Given the description of an element on the screen output the (x, y) to click on. 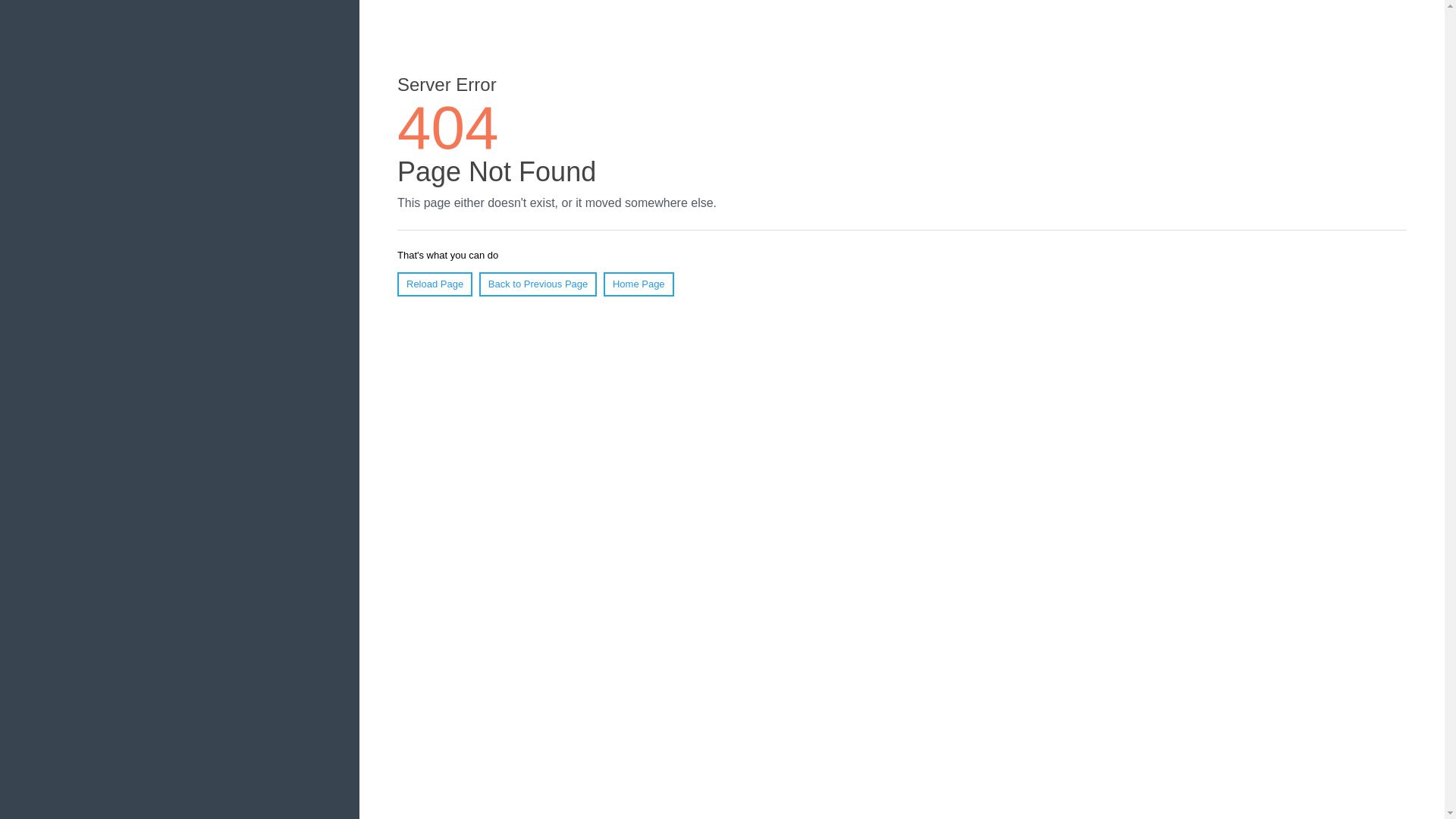
Reload Page Element type: text (434, 284)
Back to Previous Page Element type: text (538, 284)
Home Page Element type: text (638, 284)
